Given the description of an element on the screen output the (x, y) to click on. 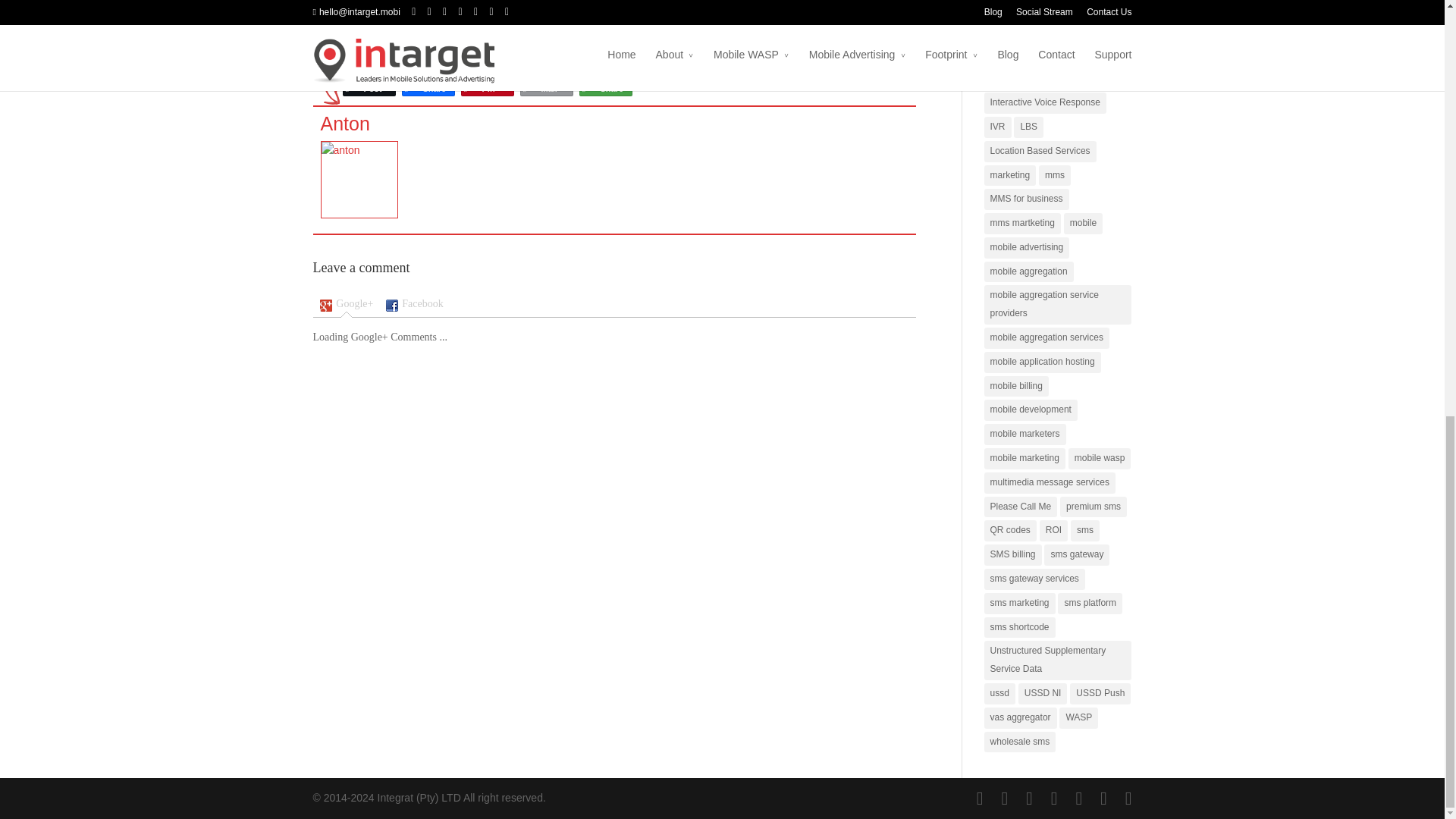
Pinterest (487, 88)
More Options (605, 88)
Email This (546, 88)
Facebook (428, 88)
anton (344, 123)
